Given the description of an element on the screen output the (x, y) to click on. 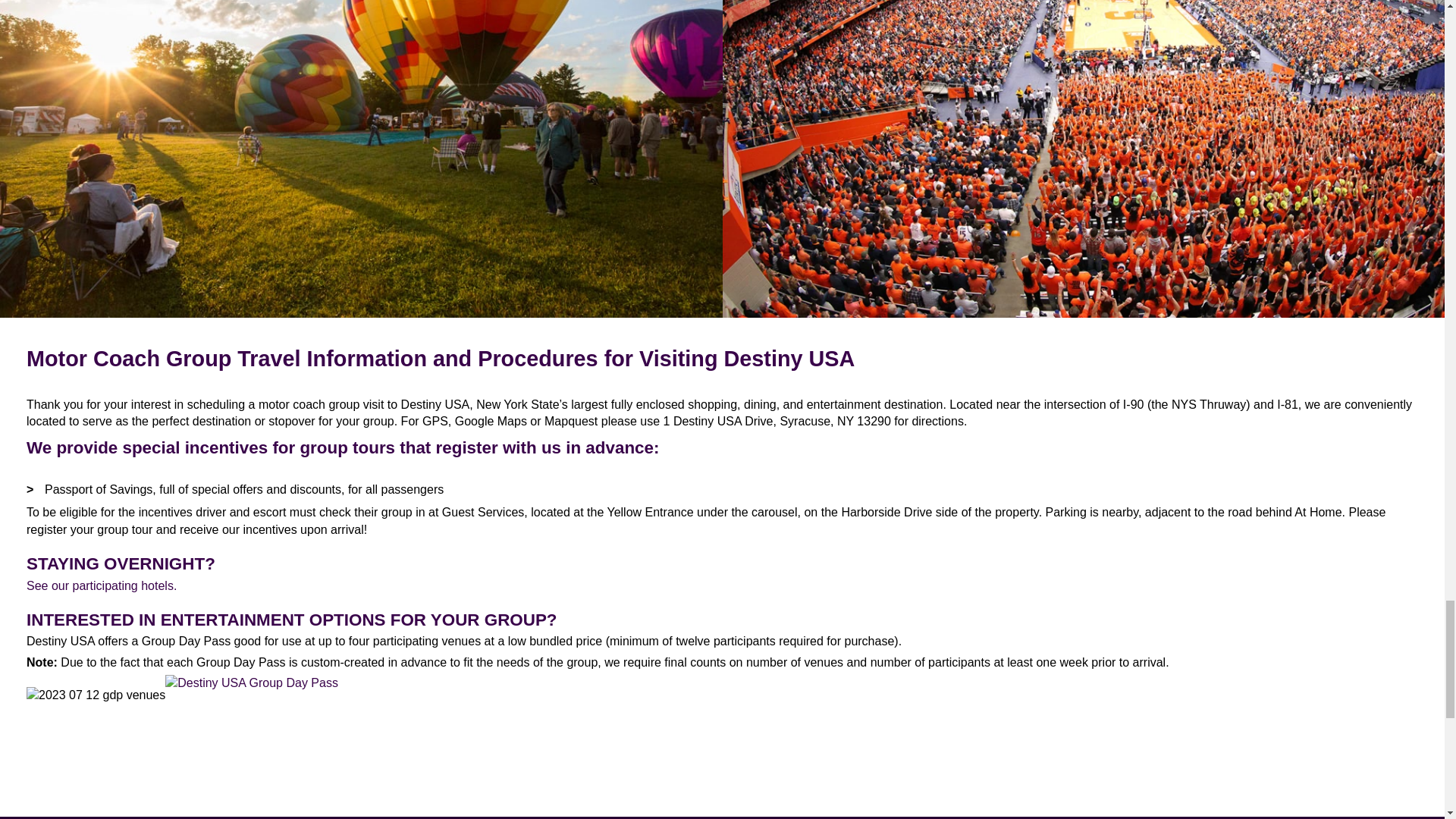
2023 07 12 gdp venues (95, 721)
